Given the description of an element on the screen output the (x, y) to click on. 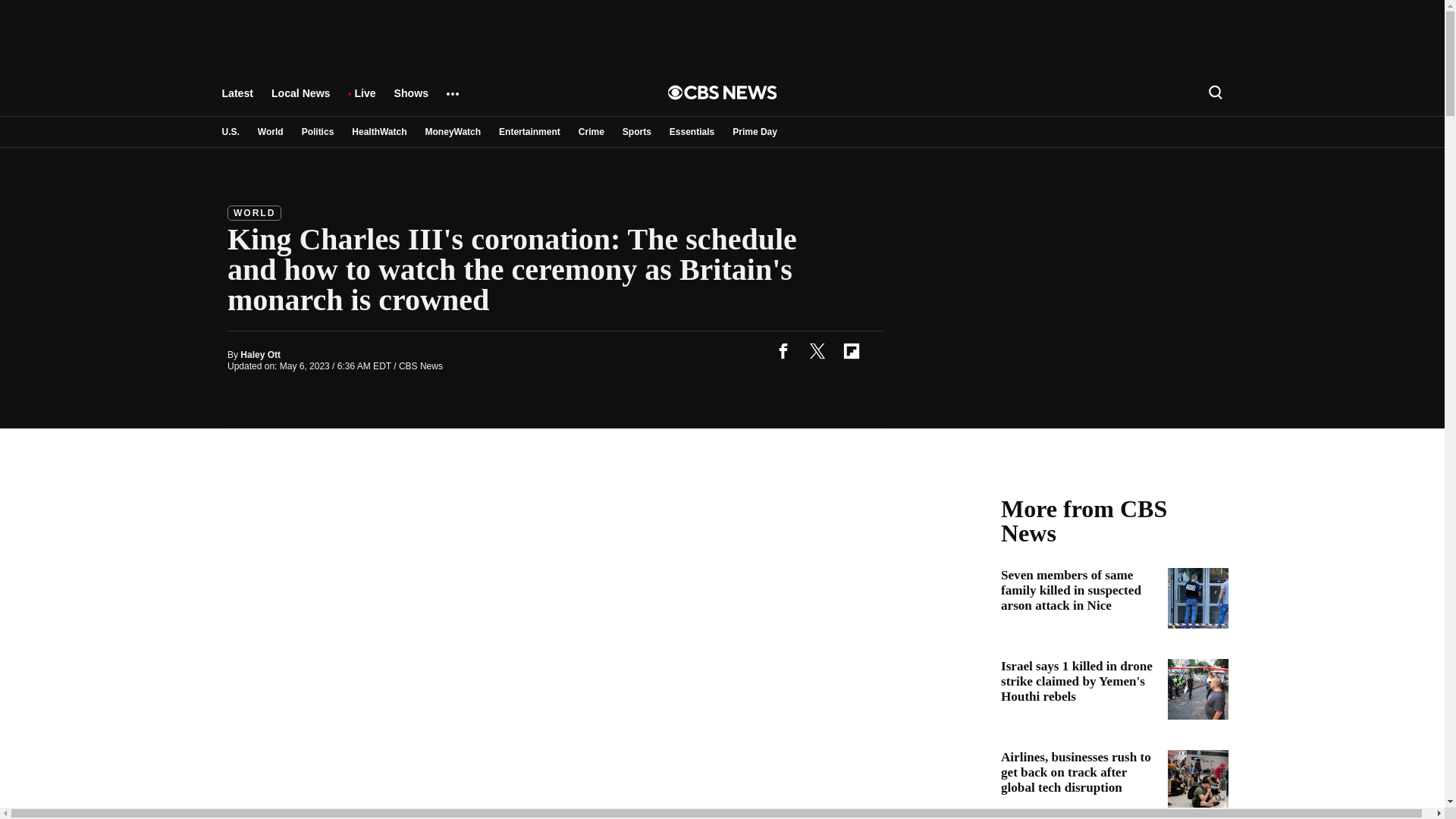
flipboard (850, 350)
Local News (300, 100)
twitter (816, 350)
facebook (782, 350)
Latest (236, 100)
